Given the description of an element on the screen output the (x, y) to click on. 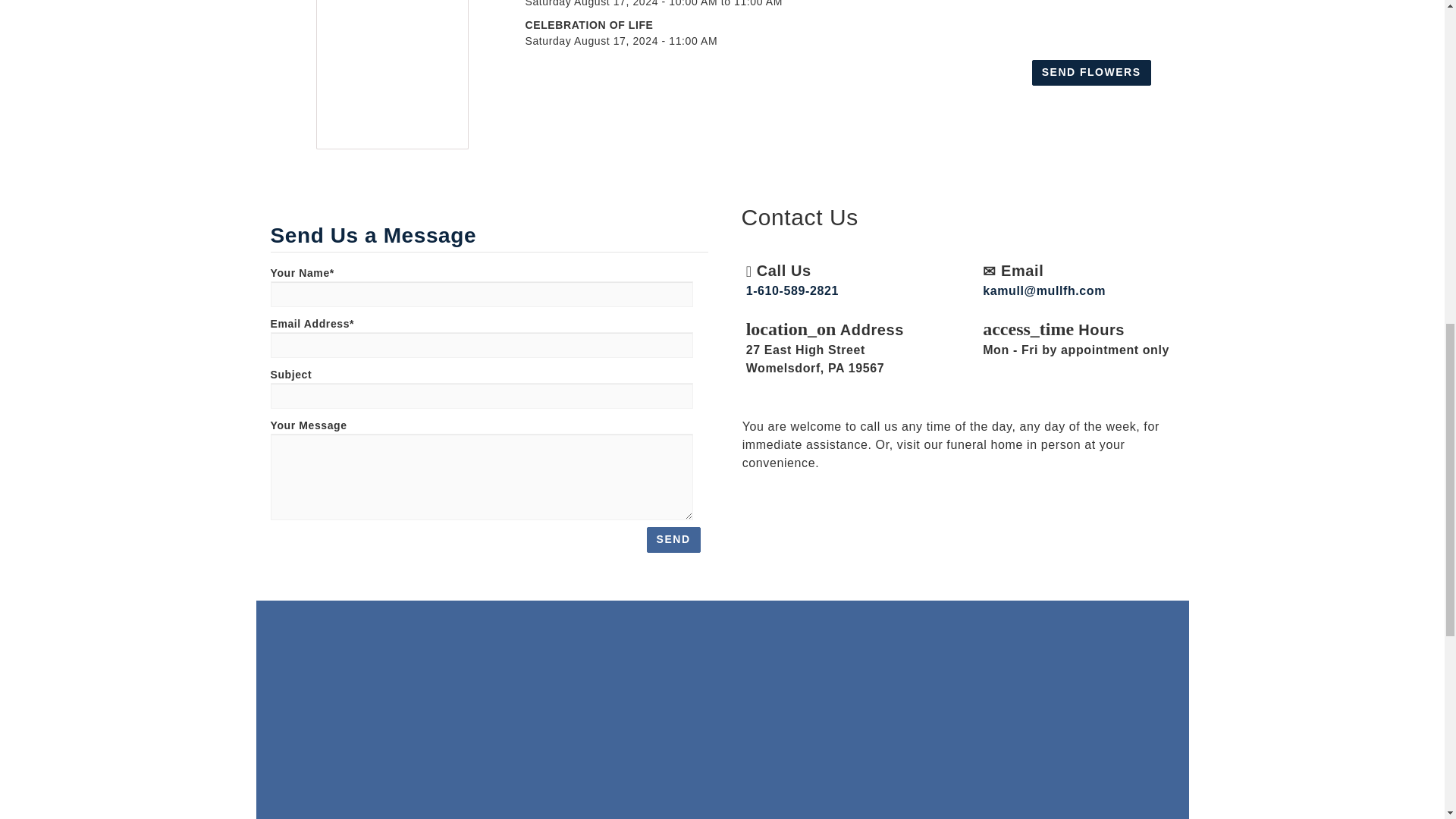
Send Flowers (750, 504)
Contact Us (778, 504)
